Given the description of an element on the screen output the (x, y) to click on. 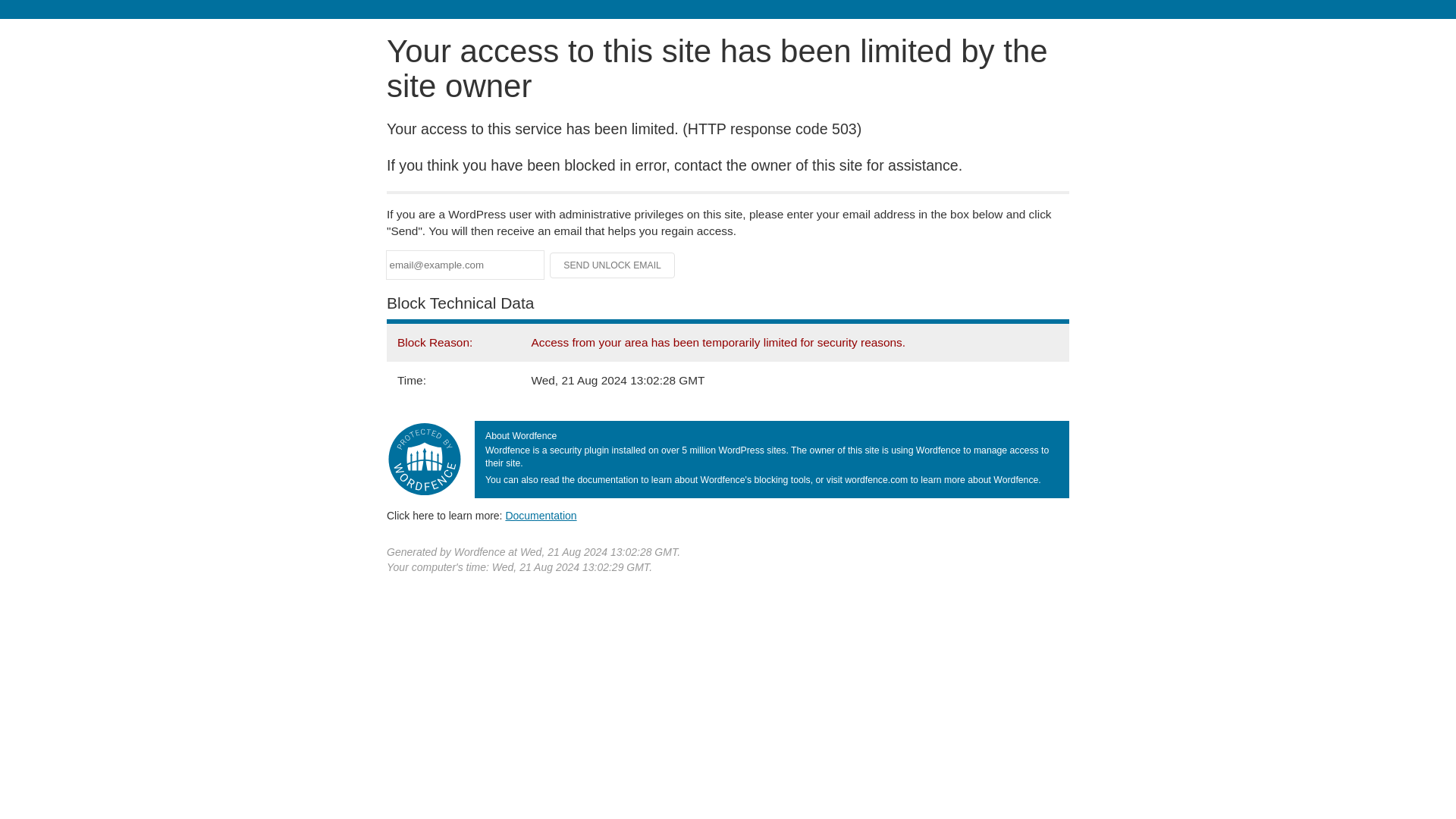
Documentation (540, 515)
Send Unlock Email (612, 265)
Send Unlock Email (612, 265)
